Given the description of an element on the screen output the (x, y) to click on. 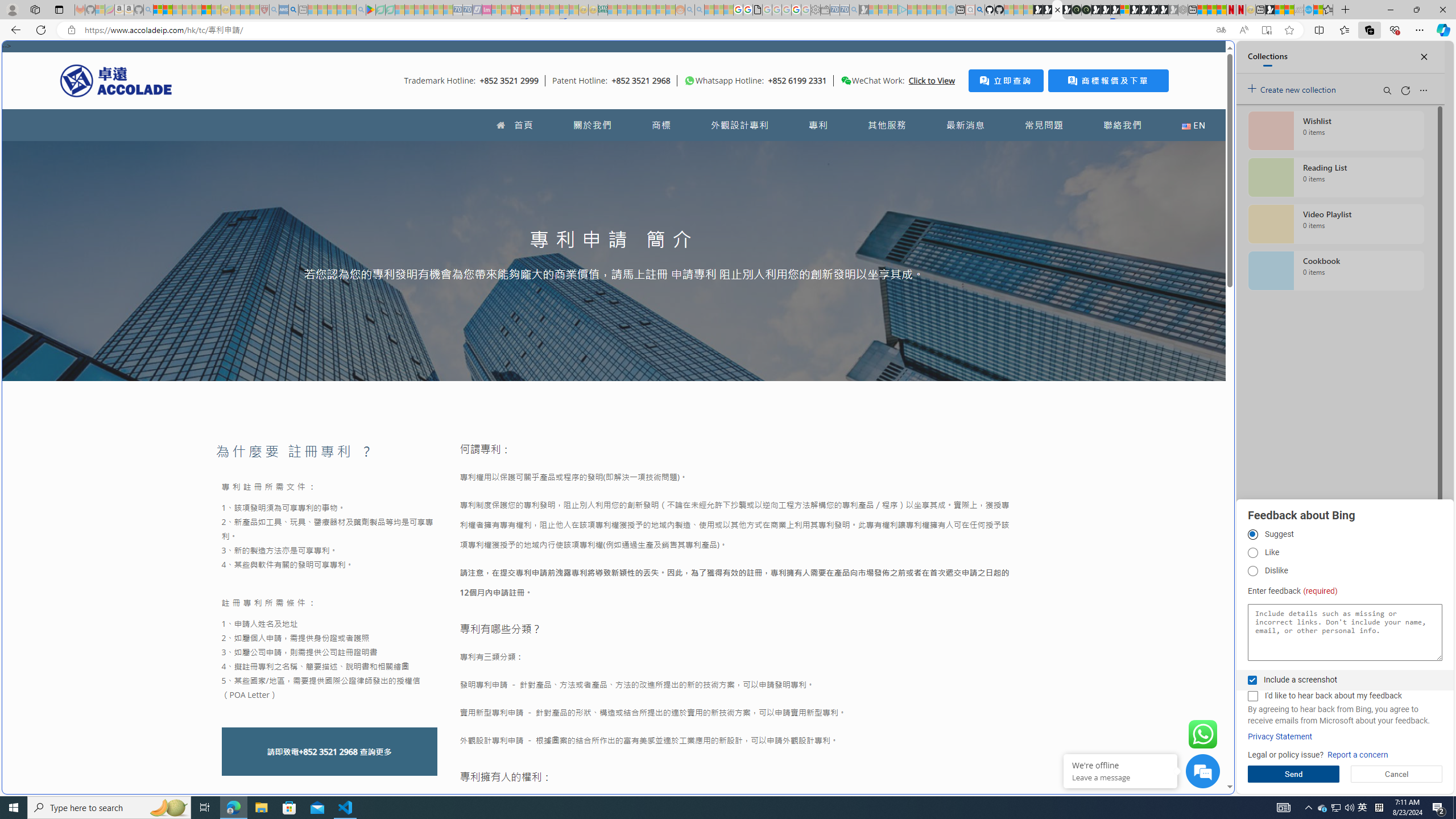
World - MSN (1279, 9)
EN (1193, 124)
The Weather Channel - MSN - Sleeping (177, 9)
google - Search - Sleeping (360, 9)
Sign in to your account (1124, 9)
Jobs - lastminute.com Investor Portal - Sleeping (486, 9)
Terms of Use Agreement - Sleeping (380, 9)
Bluey: Let's Play! - Apps on Google Play (370, 9)
